Given the description of an element on the screen output the (x, y) to click on. 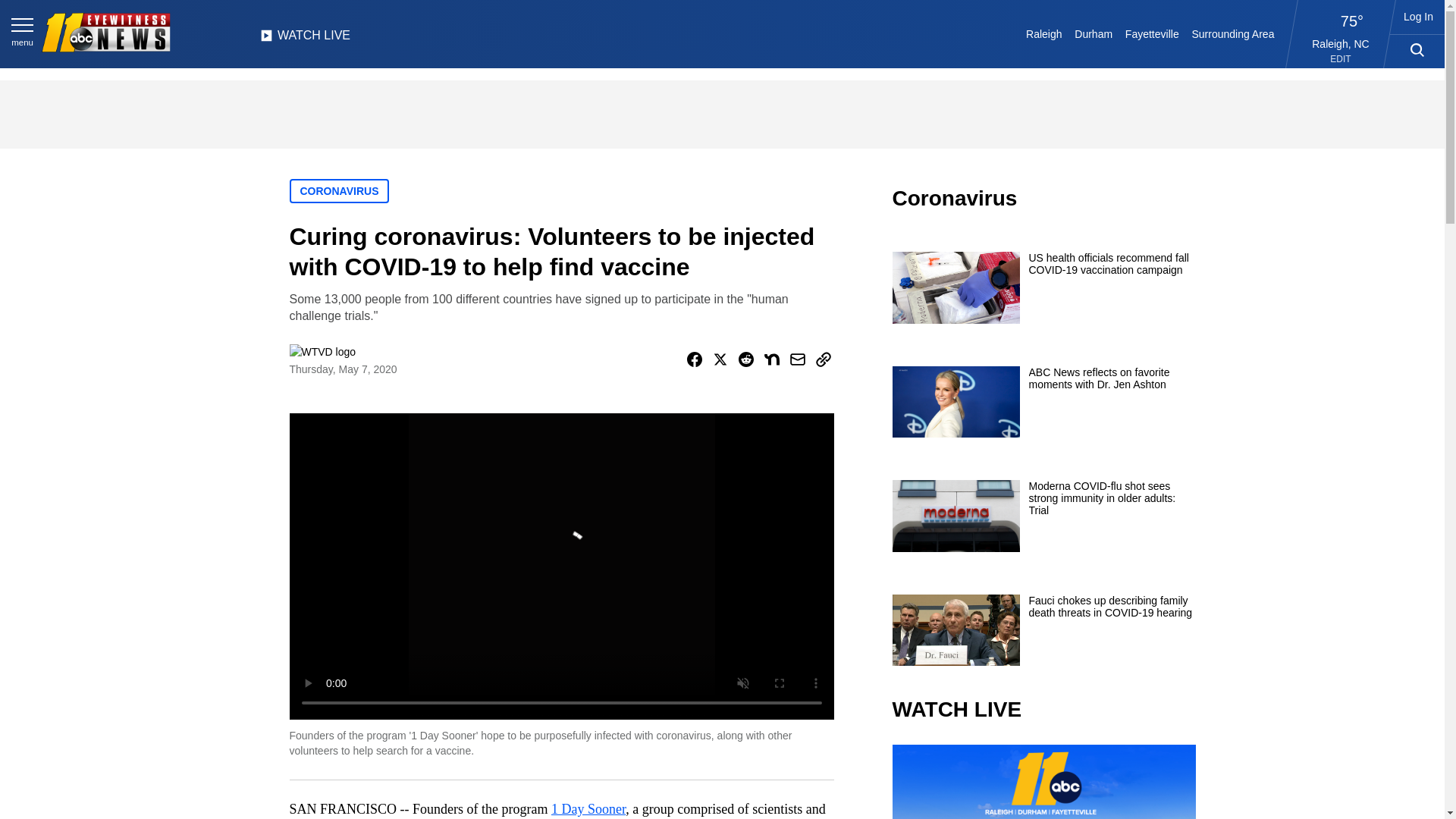
WATCH LIVE (305, 39)
EDIT (1340, 59)
Fayetteville (1151, 33)
Durham (1093, 33)
Raleigh, NC (1340, 43)
Raleigh (1044, 33)
Surrounding Area (1233, 33)
